Given the description of an element on the screen output the (x, y) to click on. 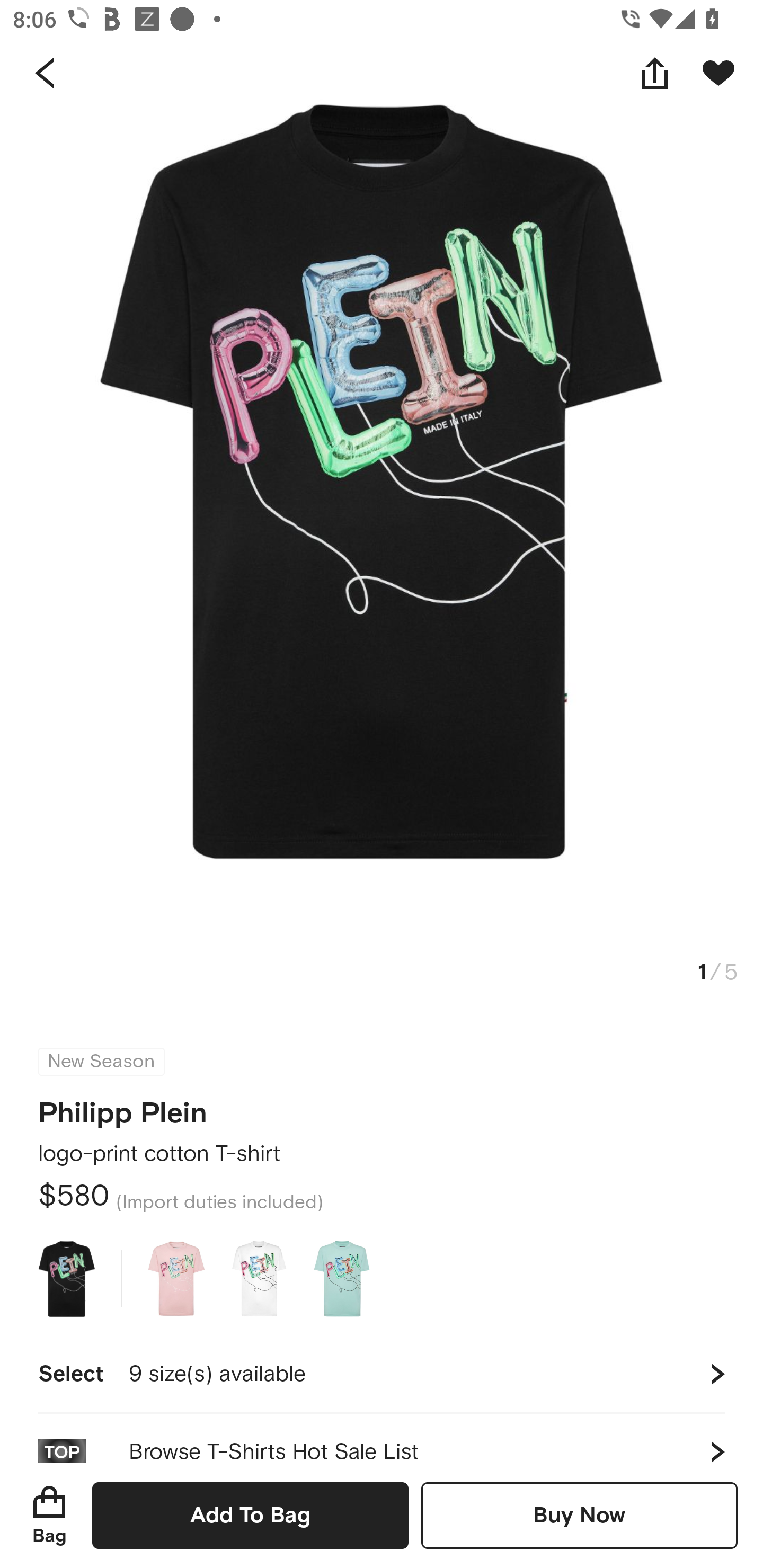
Philipp Plein (122, 1107)
Select 9 size(s) available (381, 1373)
Browse T-Shirts Hot Sale List (381, 1438)
Bag (49, 1515)
Add To Bag (250, 1515)
Buy Now (579, 1515)
